Given the description of an element on the screen output the (x, y) to click on. 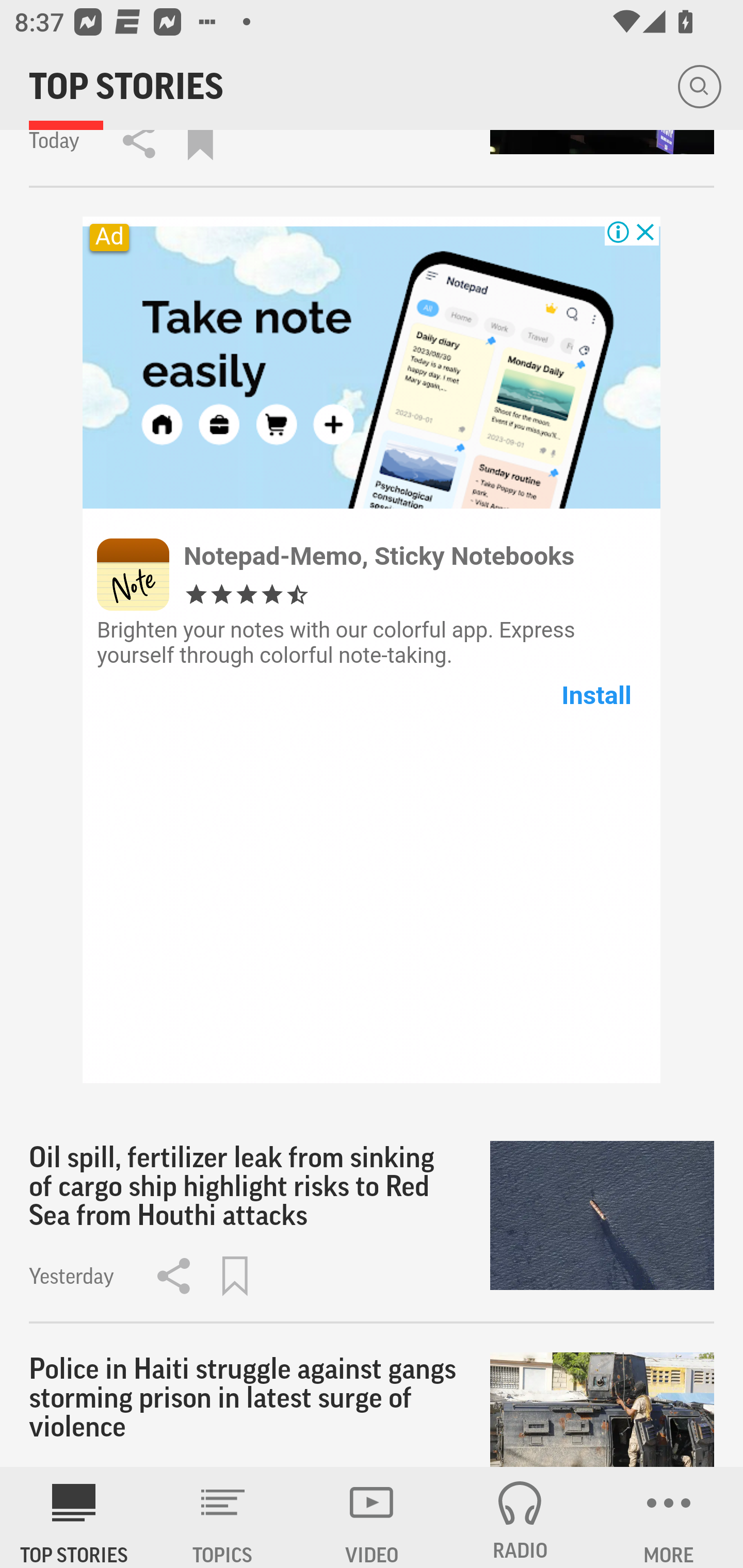
Notepad-Memo, Sticky Notebooks (379, 555)
Install (595, 694)
AP News TOP STORIES (74, 1517)
TOPICS (222, 1517)
VIDEO (371, 1517)
RADIO (519, 1517)
MORE (668, 1517)
